Given the description of an element on the screen output the (x, y) to click on. 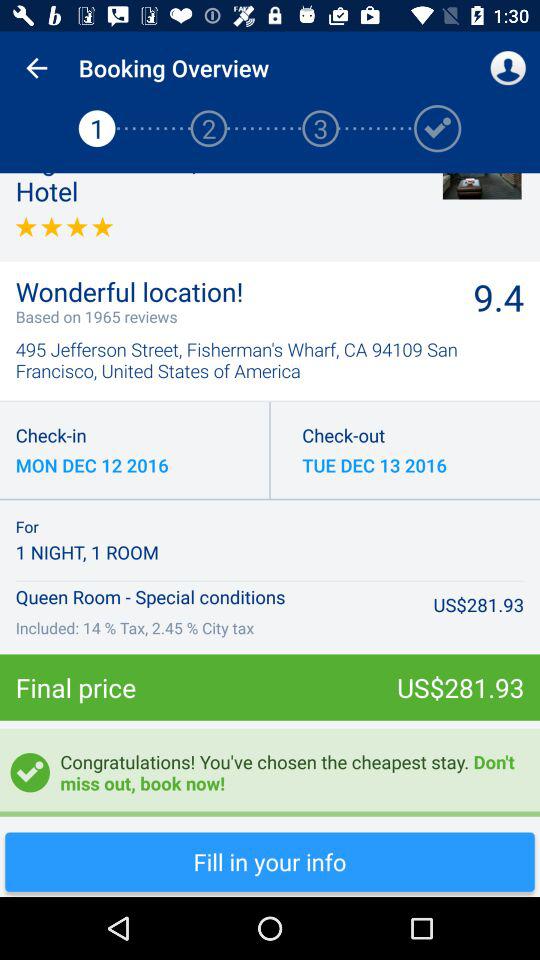
open app above the 1 (36, 68)
